Given the description of an element on the screen output the (x, y) to click on. 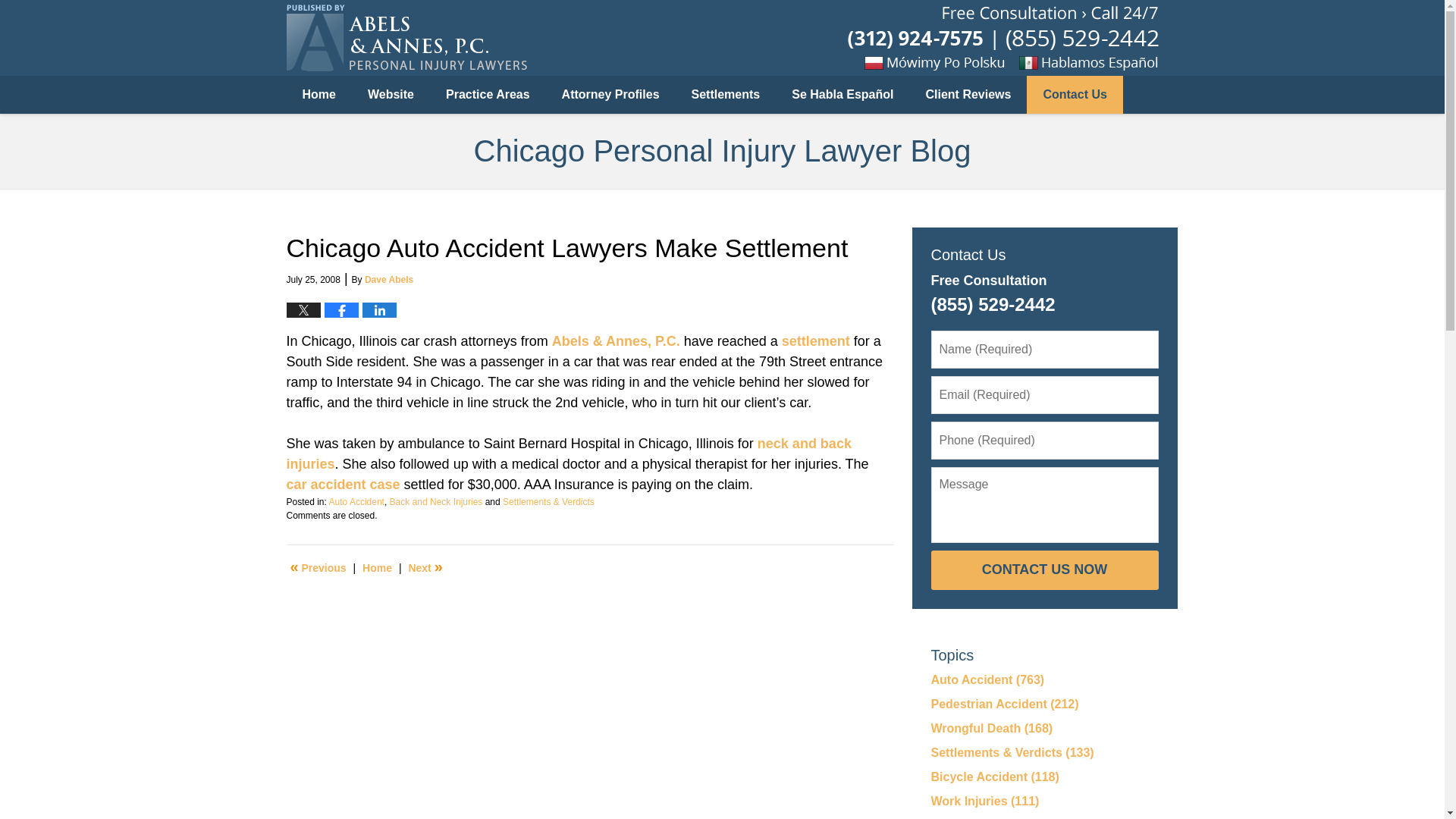
Chicago Car Accident Injures 8 (318, 567)
Contact Us (1074, 94)
View all posts in Auto Accident (356, 501)
Practice Areas (487, 94)
Website (390, 94)
Attorney Profiles (610, 94)
Home (319, 94)
Dave Abels (389, 279)
Chicago Personal Injury Lawyer Blog (406, 37)
Mowimy po polsku (945, 61)
View all posts in Back and Neck Injuries (436, 501)
Settlements (725, 94)
Please enter a valid phone number. (1044, 440)
Se habla espanol (1119, 61)
Client Reviews (968, 94)
